Given the description of an element on the screen output the (x, y) to click on. 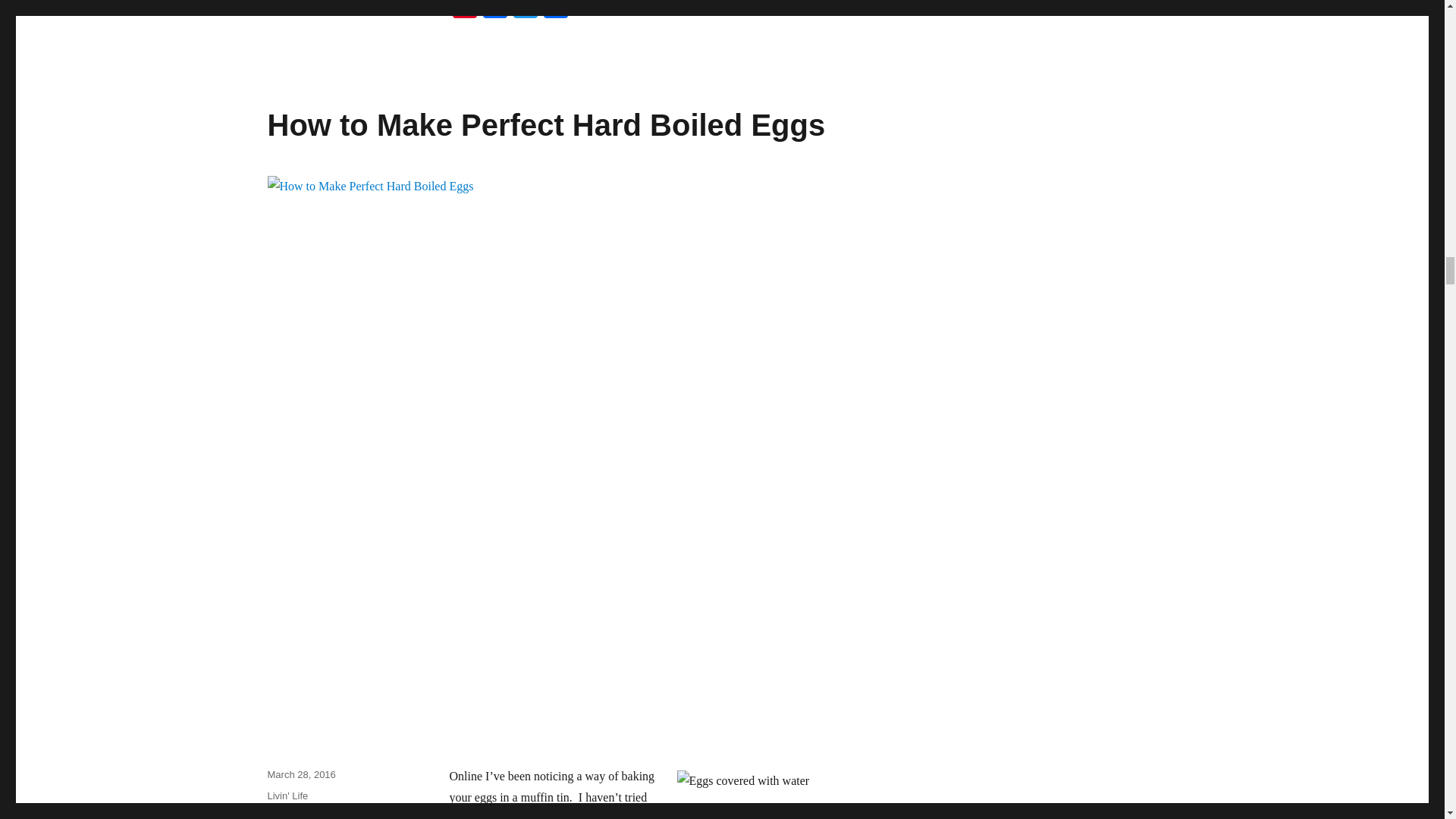
Granny Knows (298, 815)
How to Make Perfect Hard Boiled Eggs (545, 124)
Pinterest (463, 11)
Share (555, 11)
Facebook (494, 11)
Quick and Easy (323, 815)
Pinterest (463, 11)
March 28, 2016 (300, 774)
Twitter (524, 11)
Twitter (524, 11)
Livin' Life (286, 795)
Facebook (494, 11)
